Given the description of an element on the screen output the (x, y) to click on. 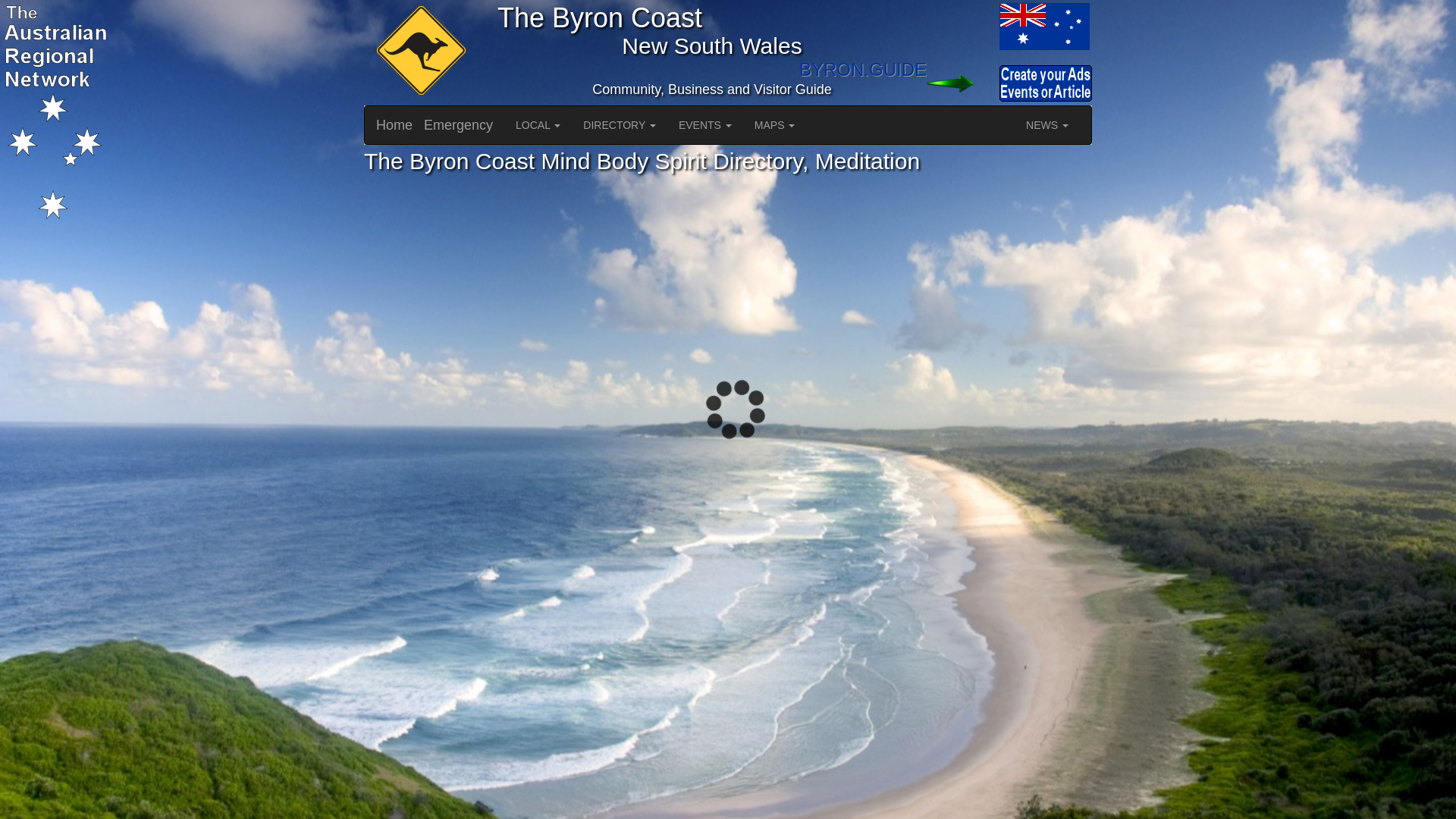
Australia (962, 26)
Login to byron.guide (962, 83)
The Byron Coast Skippycoin ICG (419, 52)
Home (394, 125)
The Byron Coast Australia (1043, 26)
LOCAL (537, 125)
Emergency (457, 125)
DIRECTORY (619, 125)
